Given the description of an element on the screen output the (x, y) to click on. 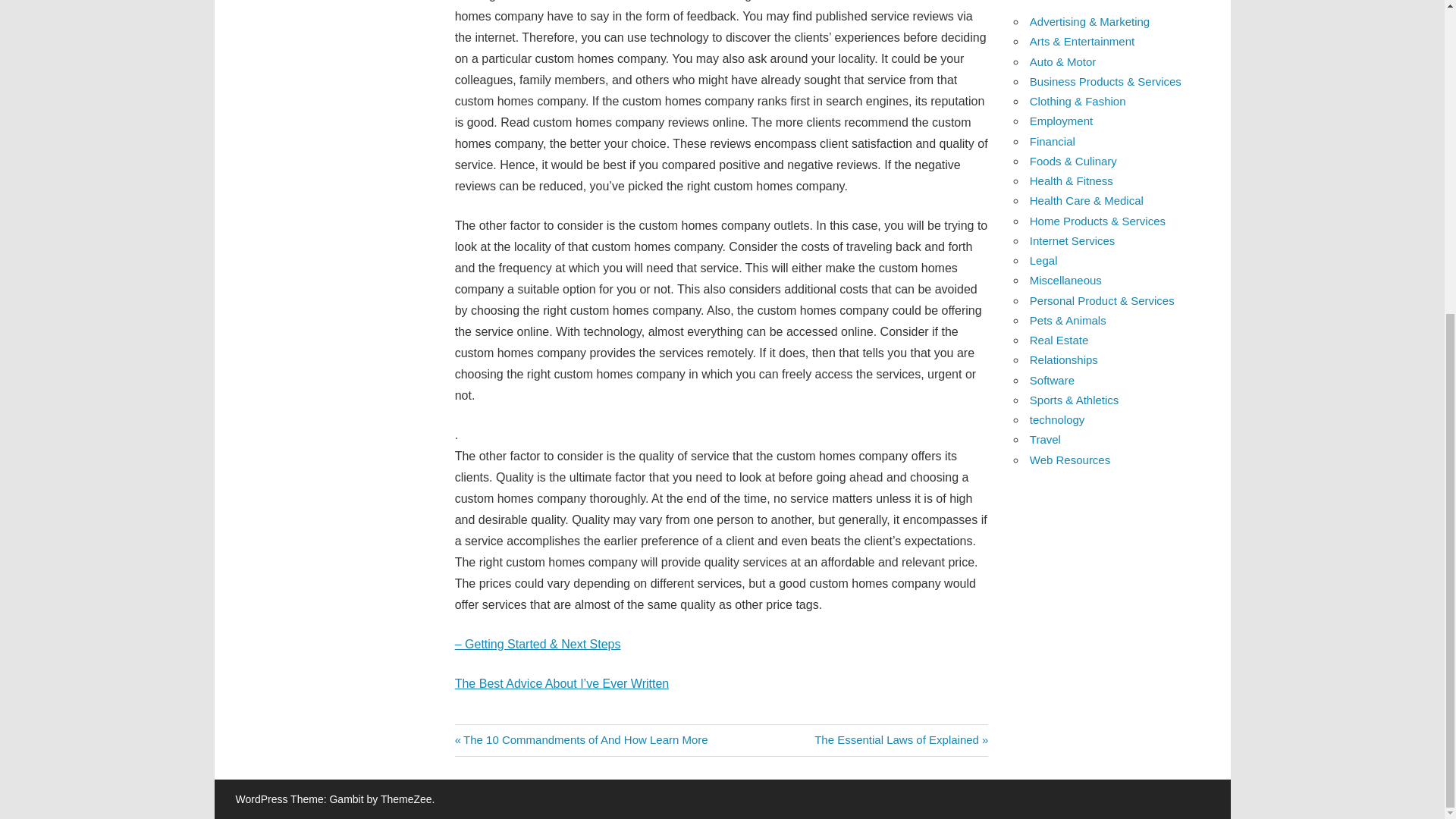
Internet Services (1072, 240)
Financial (900, 739)
Employment (1052, 141)
